Given the description of an element on the screen output the (x, y) to click on. 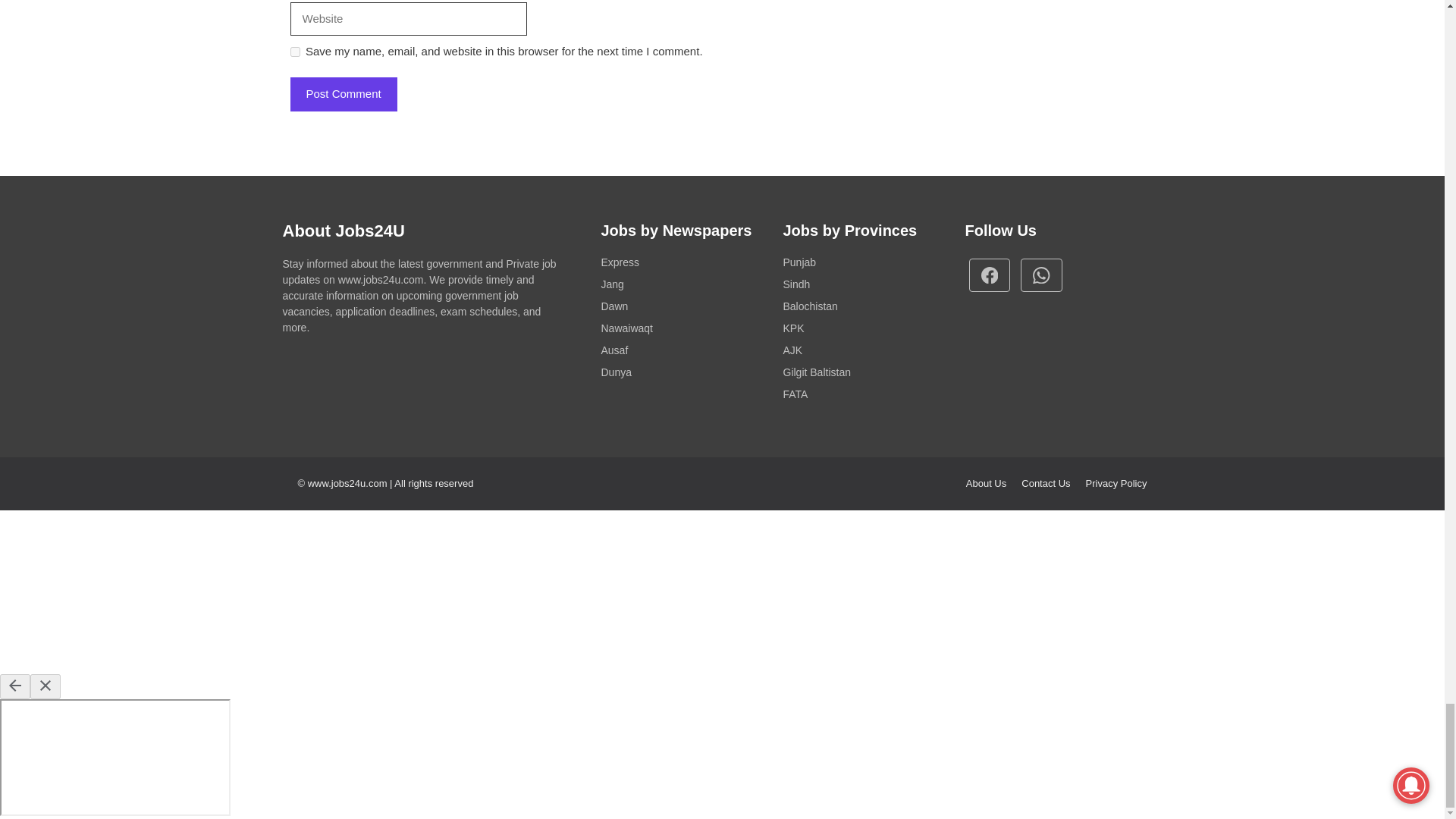
yes (294, 51)
Post Comment (342, 93)
